Given the description of an element on the screen output the (x, y) to click on. 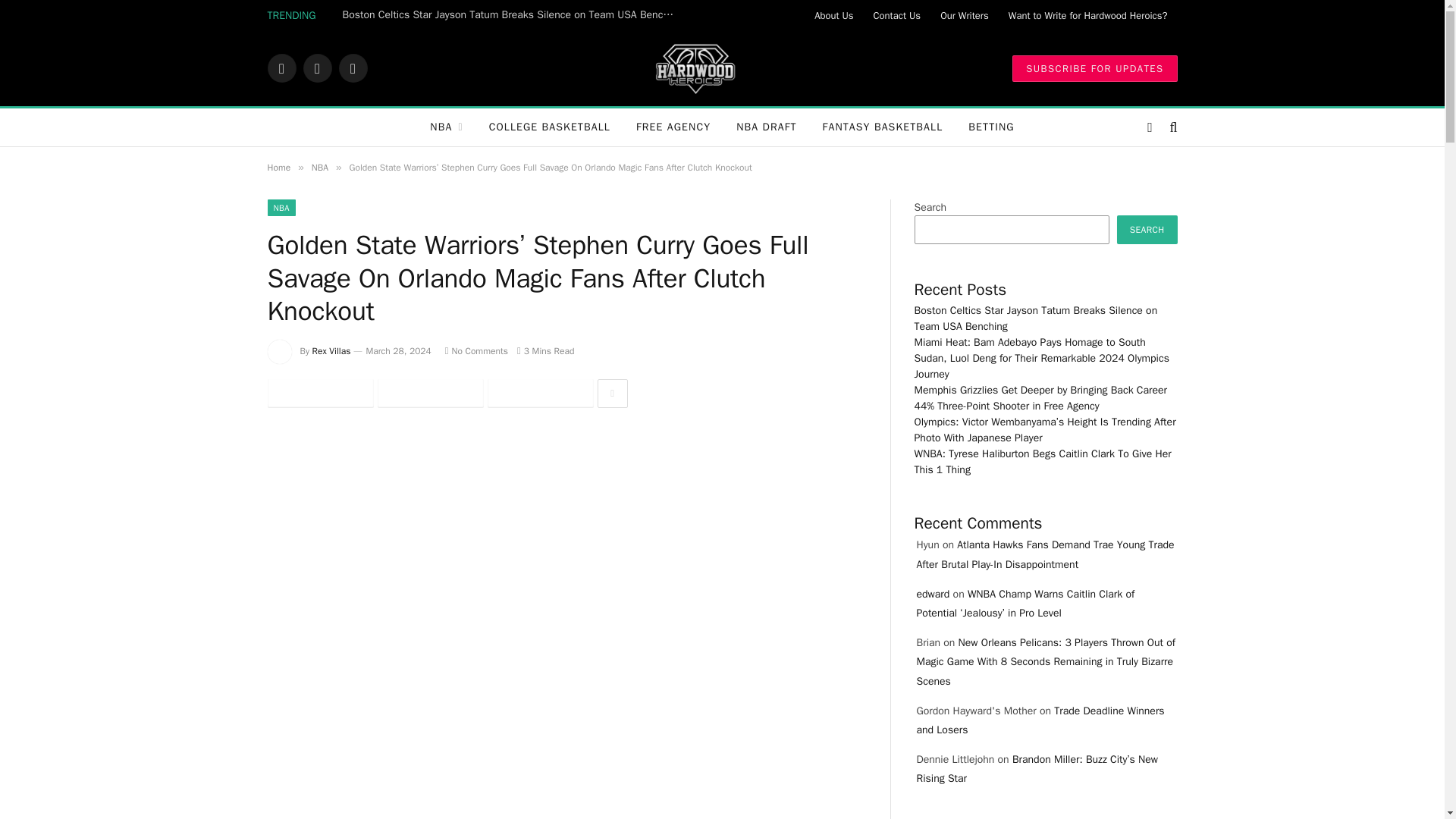
Share on Pinterest (539, 393)
Contact Us (897, 15)
Posts by Rex Villas (331, 350)
Switch to Dark Design - easier on eyes. (1149, 127)
Facebook (280, 68)
Share on Facebook (319, 393)
SUBSCRIBE FOR UPDATES (1093, 67)
Our Writers (964, 15)
Twitter (316, 68)
Instagram (351, 68)
NBA (446, 127)
About Us (834, 15)
Show More Social Sharing (611, 393)
Want to Write for Hardwood Heroics? (1087, 15)
